Given the description of an element on the screen output the (x, y) to click on. 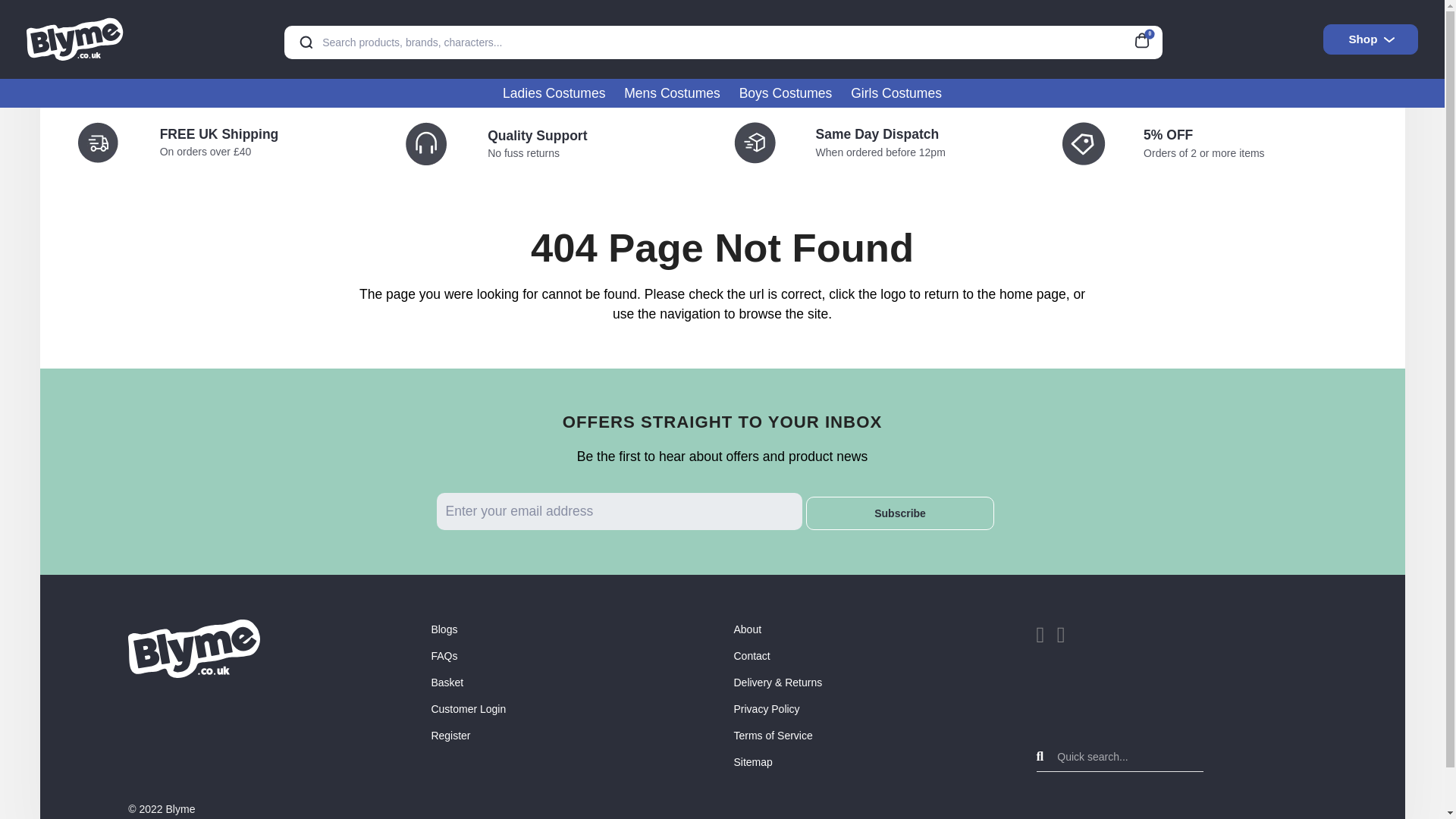
0 (1147, 38)
Subscribe (900, 513)
View your Basket (1147, 38)
0 (1147, 38)
